Given the description of an element on the screen output the (x, y) to click on. 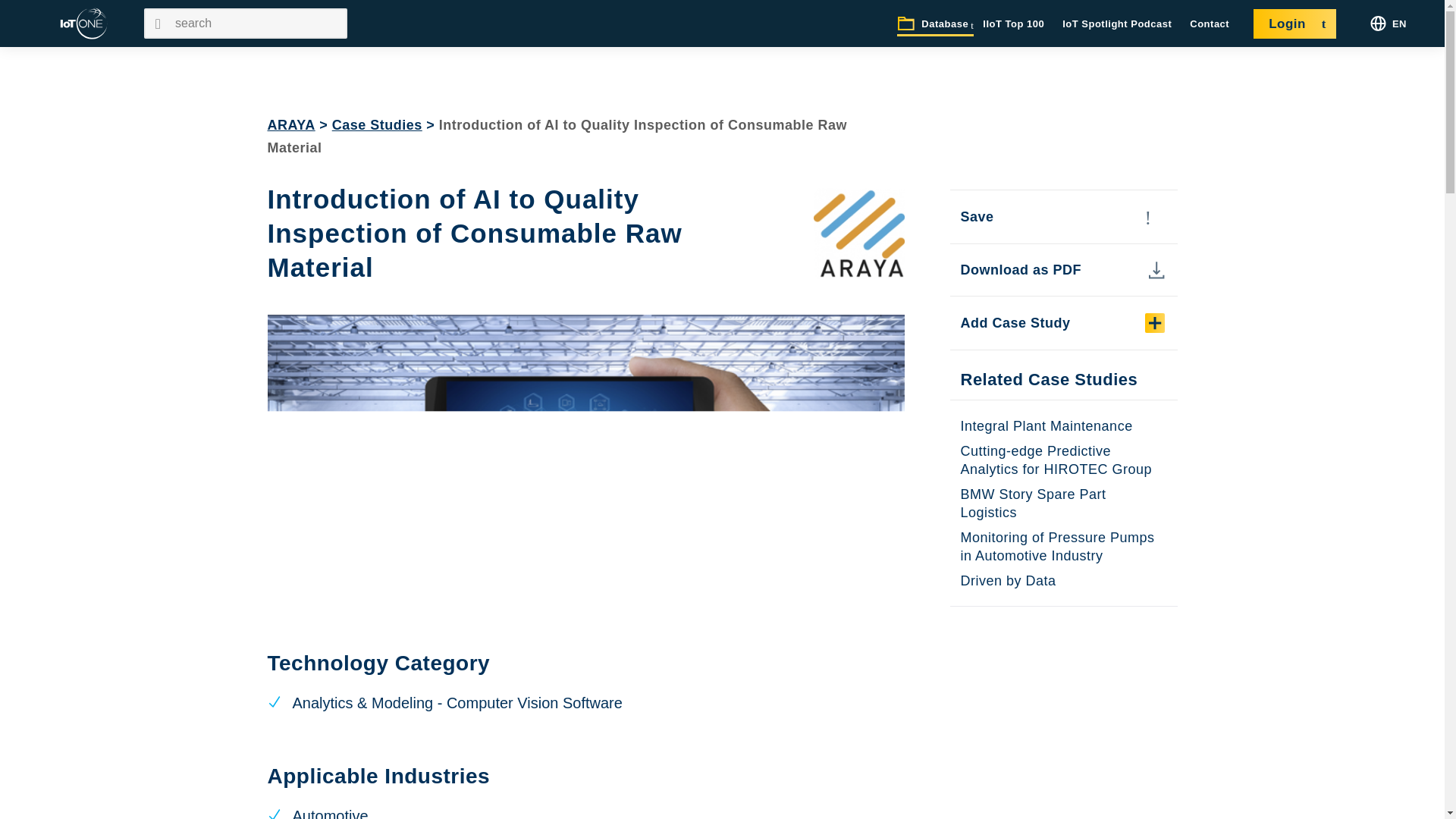
Integral Plant Maintenance (1045, 426)
IoT Spotlight Podcast (1117, 23)
Driven by Data (1007, 580)
ARAYA Logo (858, 233)
ARAYA (290, 124)
Case Studies (376, 124)
Monitoring of Pressure Pumps in Automotive Industry (1056, 546)
BMW Story Spare Part Logistics (1032, 503)
Contact (1209, 23)
